Given the description of an element on the screen output the (x, y) to click on. 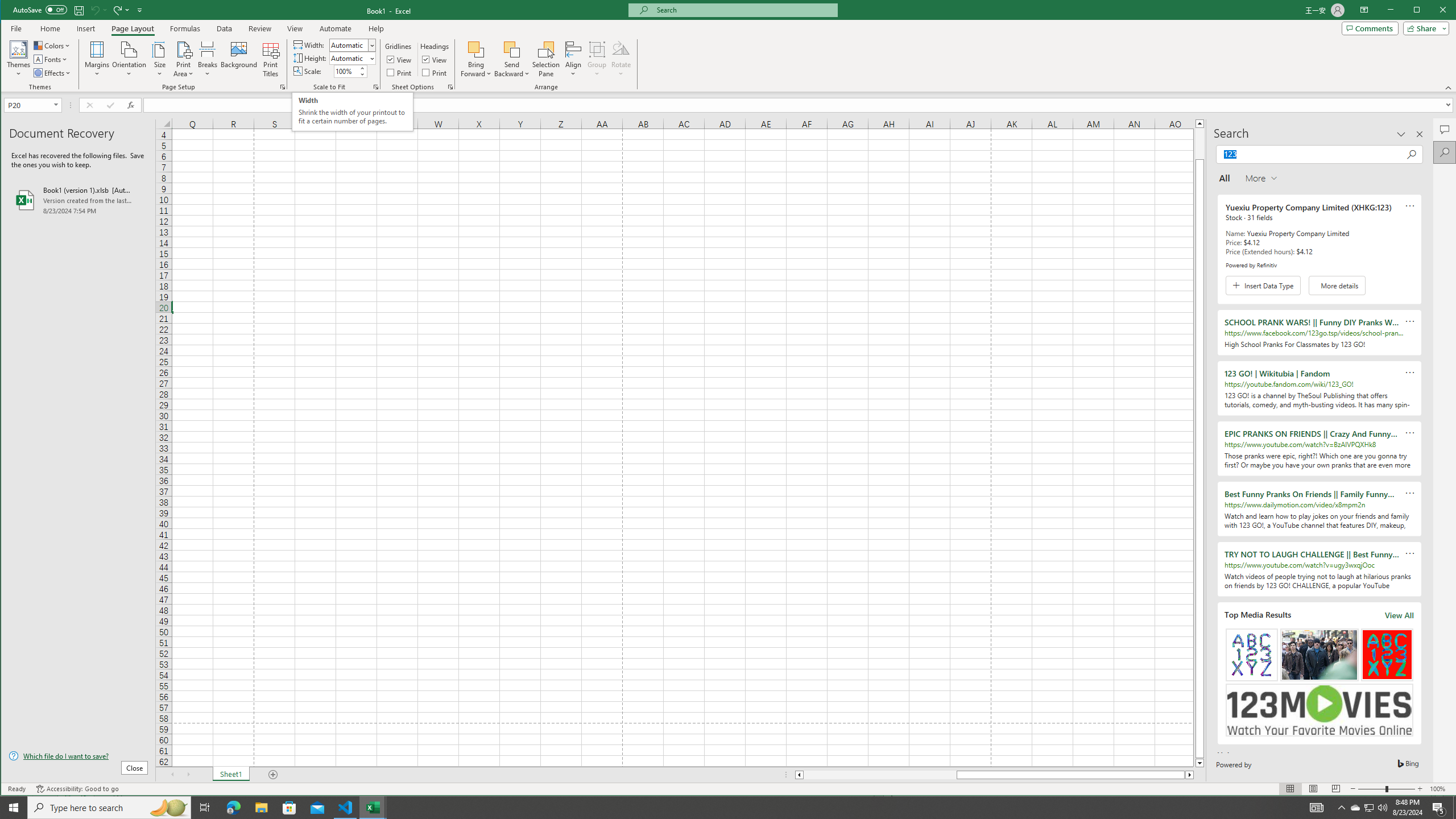
Q2790: 100% (1382, 807)
Send Backward (512, 48)
Group (596, 59)
Breaks (207, 59)
Running applications (717, 807)
